Given the description of an element on the screen output the (x, y) to click on. 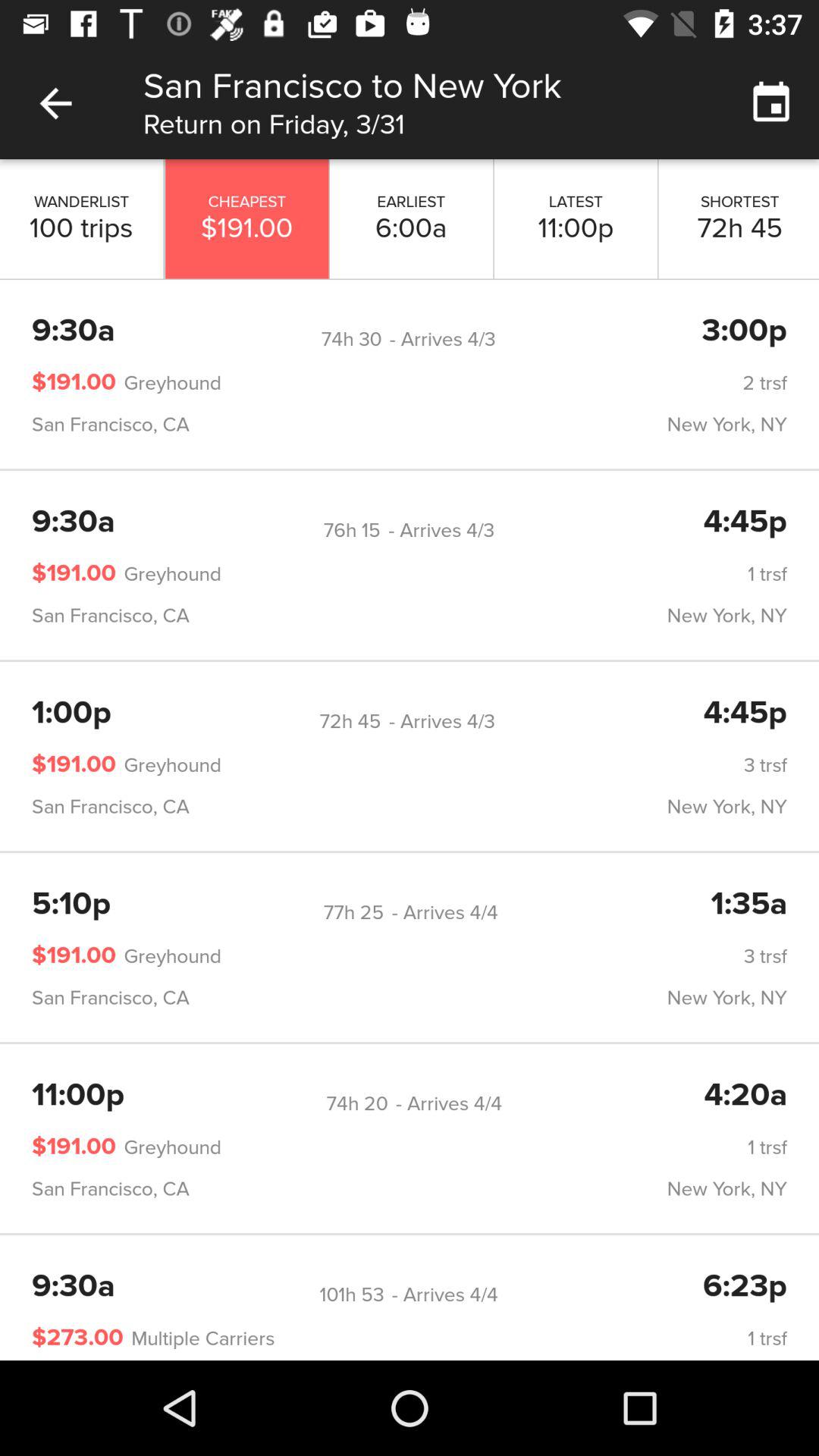
select the item below the san francisco, ca (351, 530)
